Given the description of an element on the screen output the (x, y) to click on. 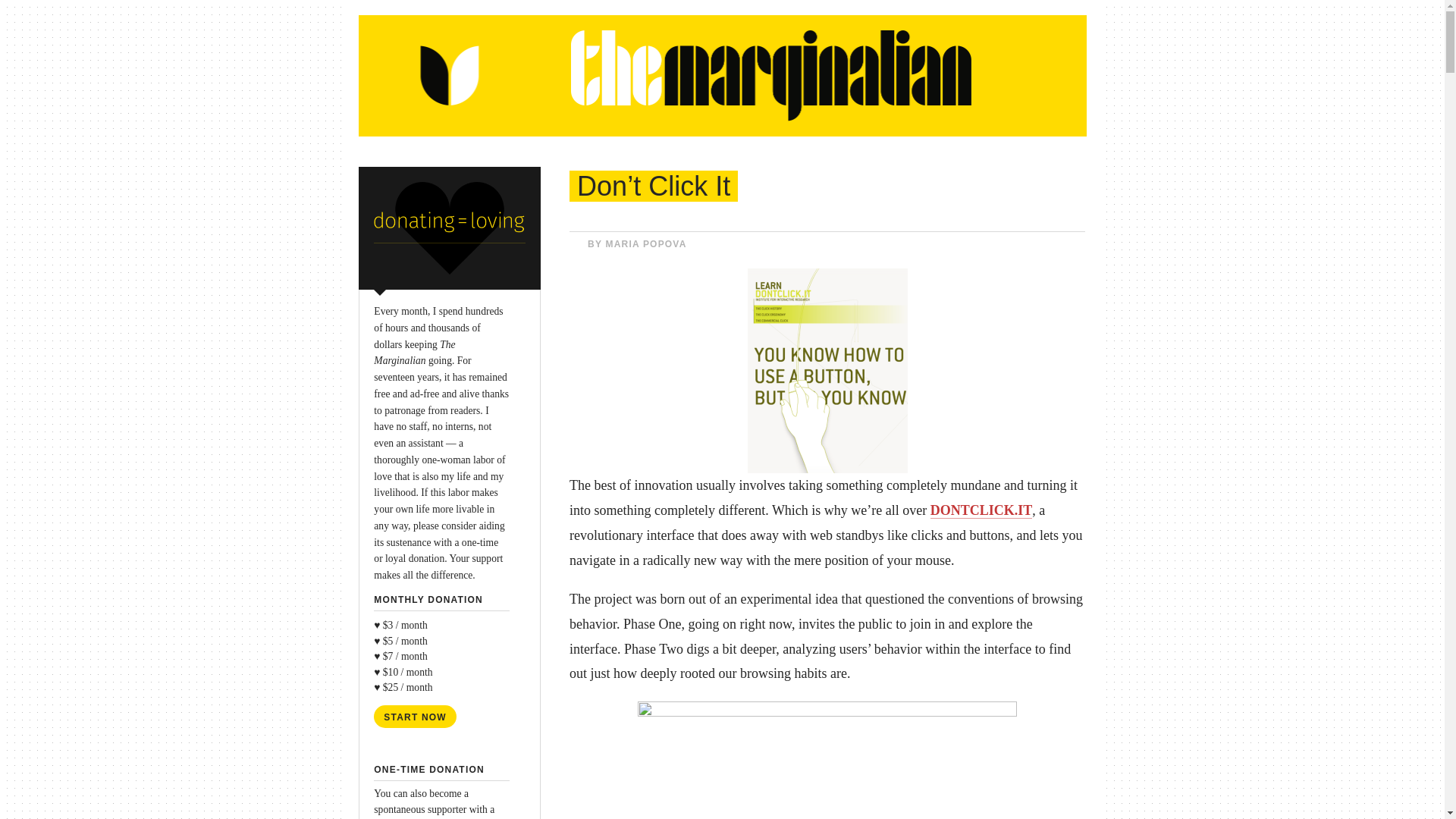
Click History (826, 759)
DONTCLICK.IT (981, 510)
START NOW (415, 716)
